Given the description of an element on the screen output the (x, y) to click on. 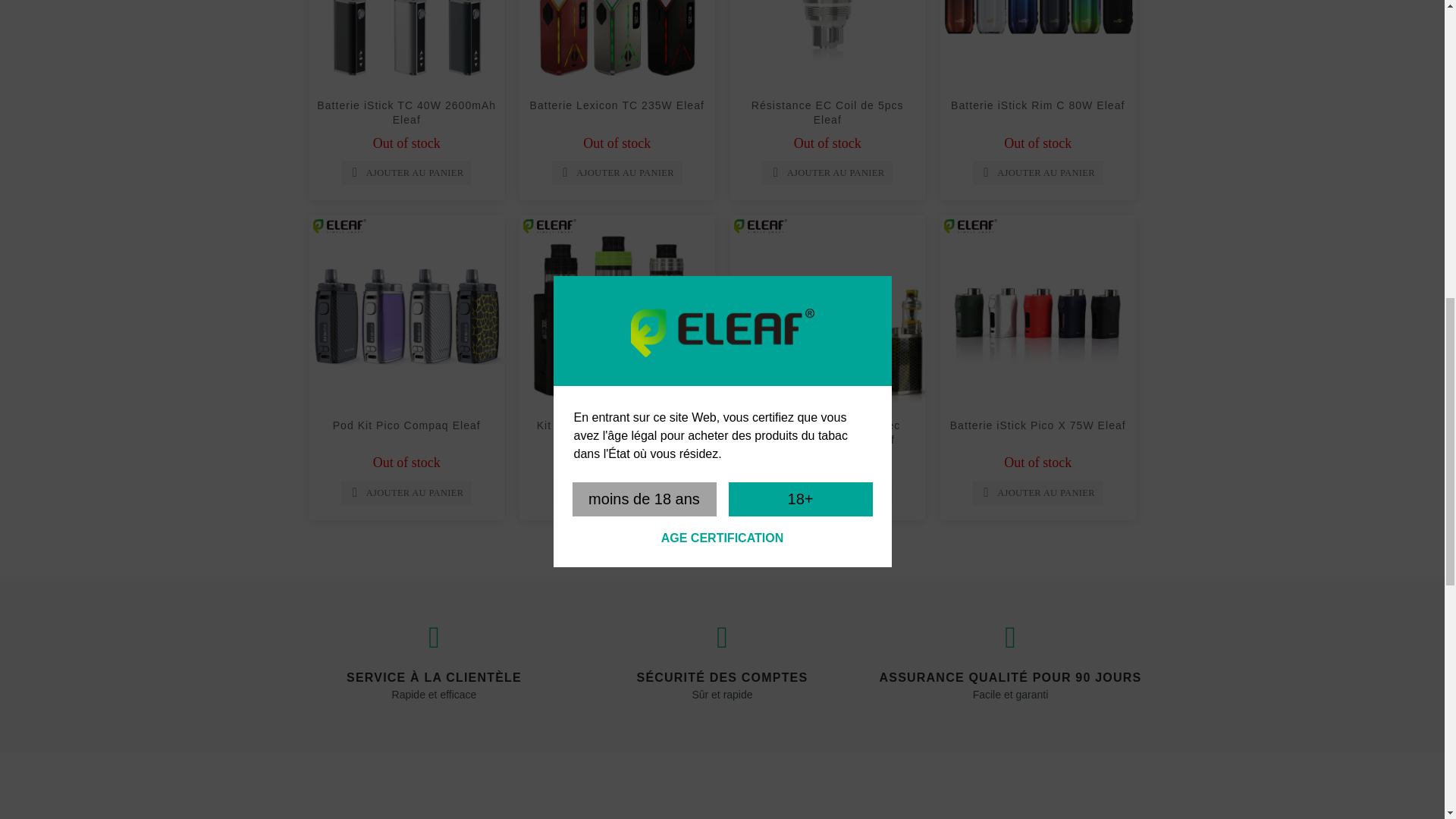
Batterie iStick TC 40W 2600mAh Eleaf (406, 45)
Batterie iStick TC 40W 2600mAh Eleaf (406, 112)
Batterie Lexicon TC 235W Eleaf (616, 45)
Batterie Lexicon TC 235W Eleaf (616, 105)
